Given the description of an element on the screen output the (x, y) to click on. 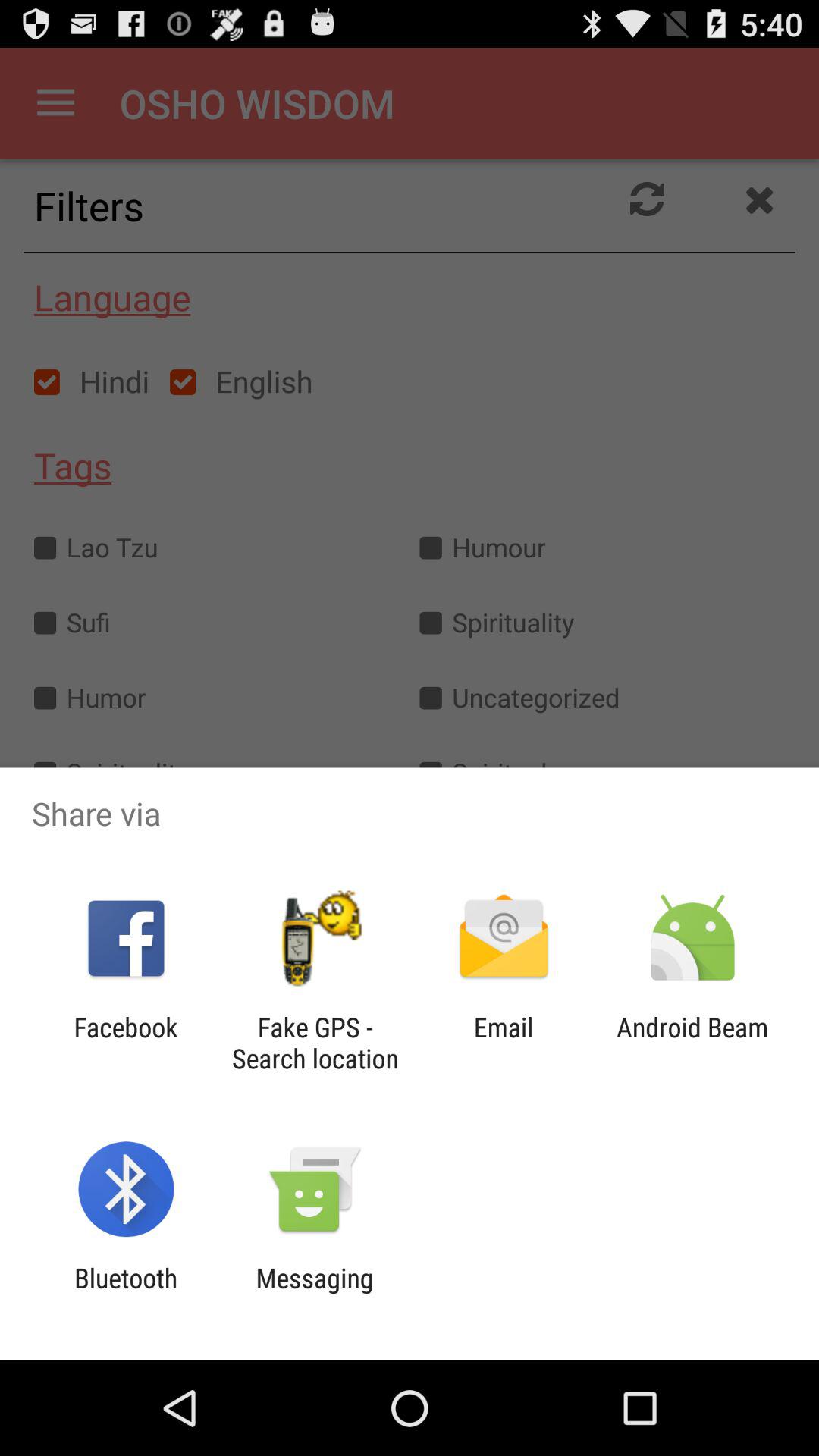
select item to the right of the facebook (314, 1042)
